Given the description of an element on the screen output the (x, y) to click on. 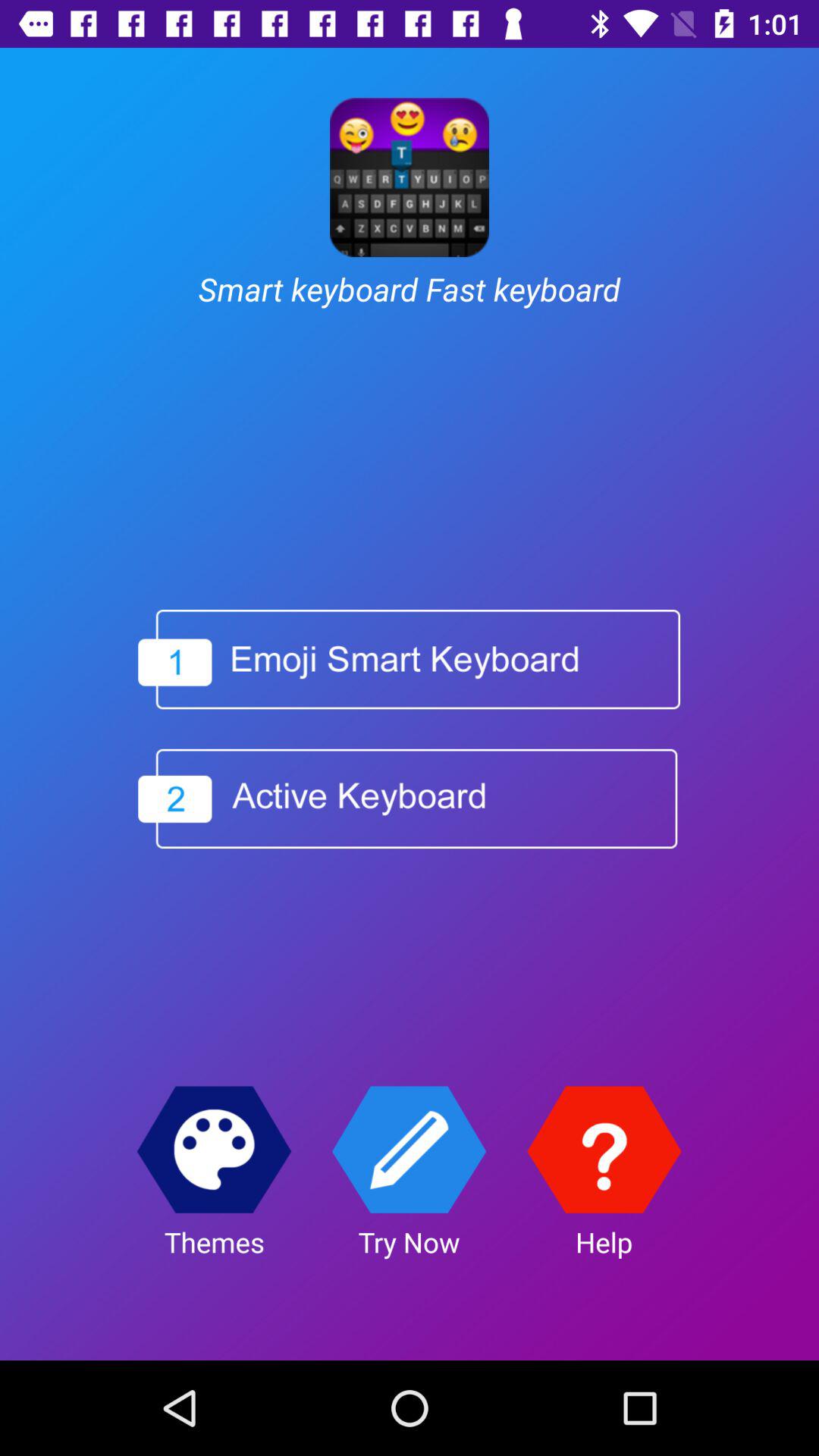
select option (407, 798)
